Given the description of an element on the screen output the (x, y) to click on. 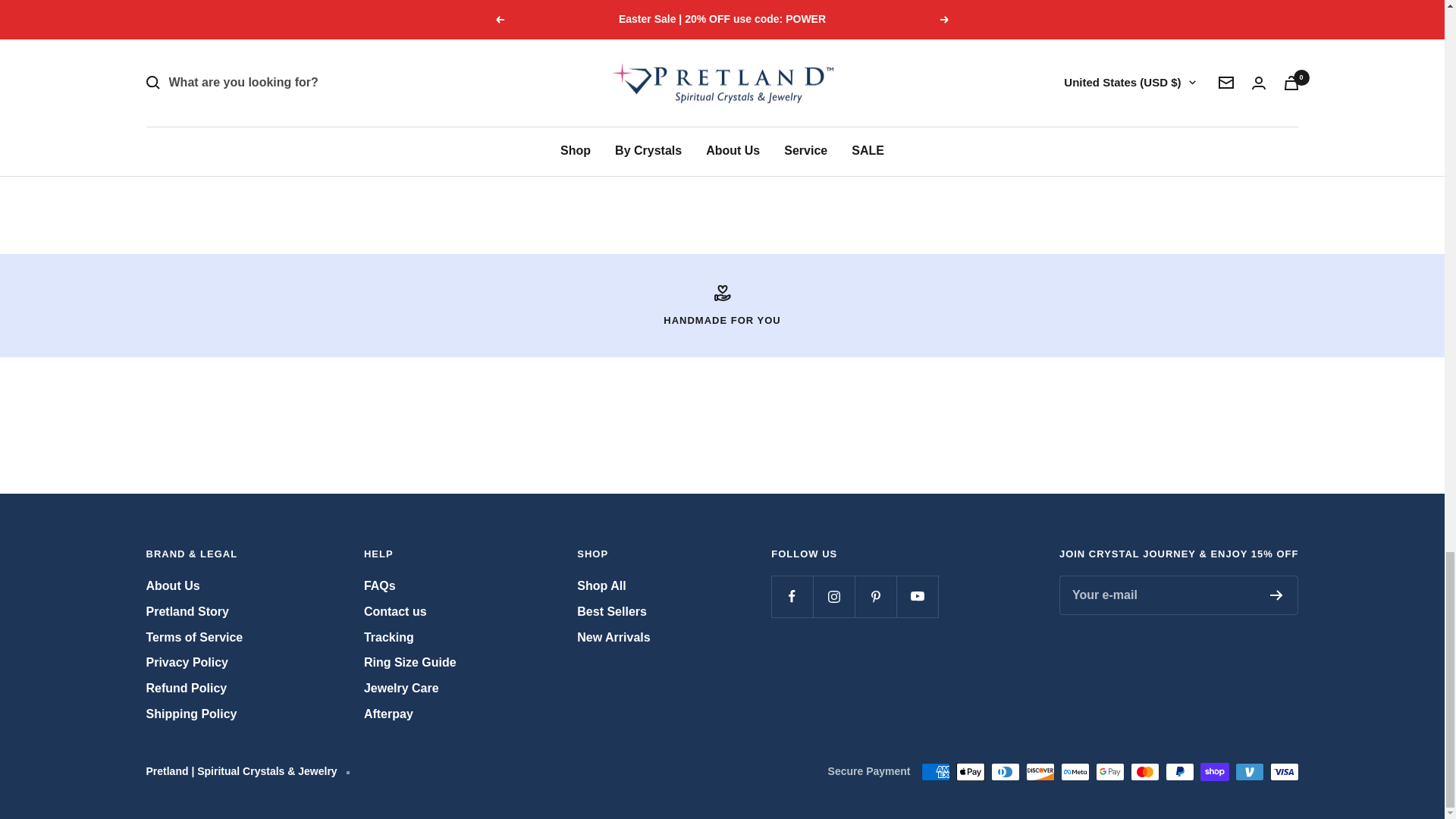
Register (1275, 594)
HANDMADE FOR YOU (721, 305)
